Given the description of an element on the screen output the (x, y) to click on. 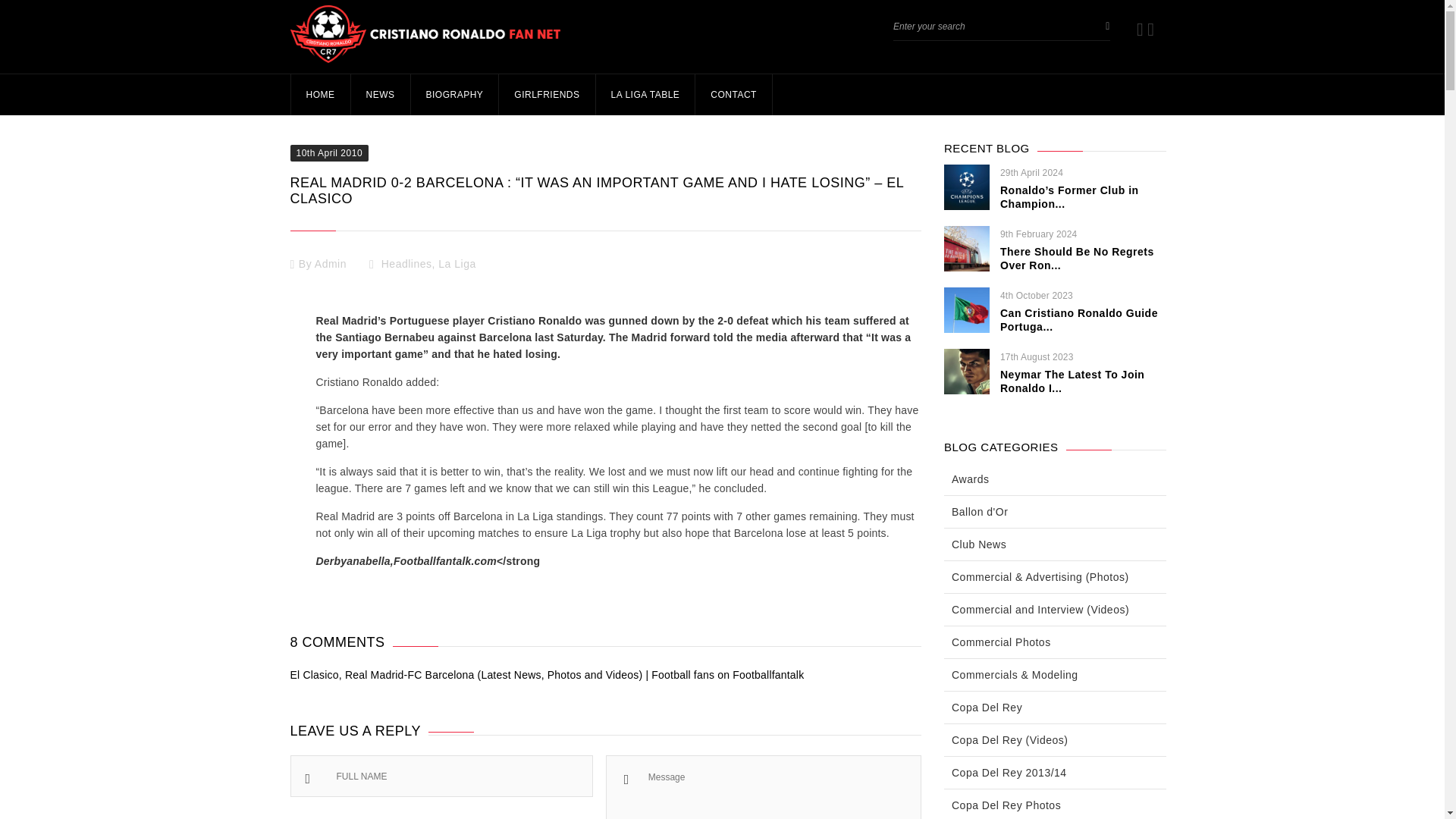
La Liga (457, 263)
Headlines (406, 263)
BIOGRAPHY (453, 94)
NEWS (380, 94)
CONTACT (733, 94)
LA LIGA TABLE (645, 94)
There Should Be No Regrets Over Ron... (1077, 258)
GIRLFRIENDS (545, 94)
HOME (319, 94)
Enter your search (988, 26)
Admin (330, 263)
